Given the description of an element on the screen output the (x, y) to click on. 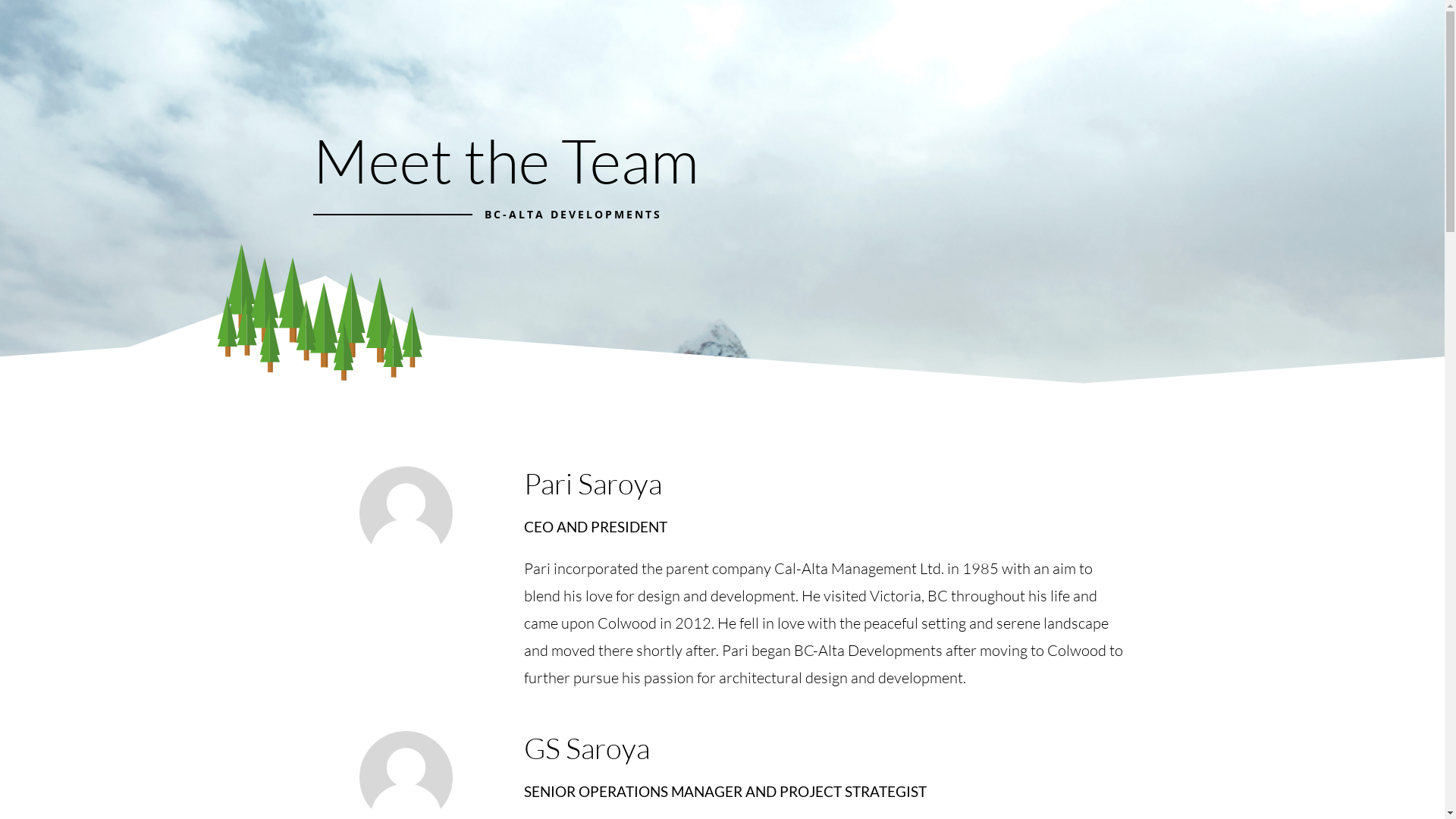
Avatar Element type: hover (405, 512)
